Given the description of an element on the screen output the (x, y) to click on. 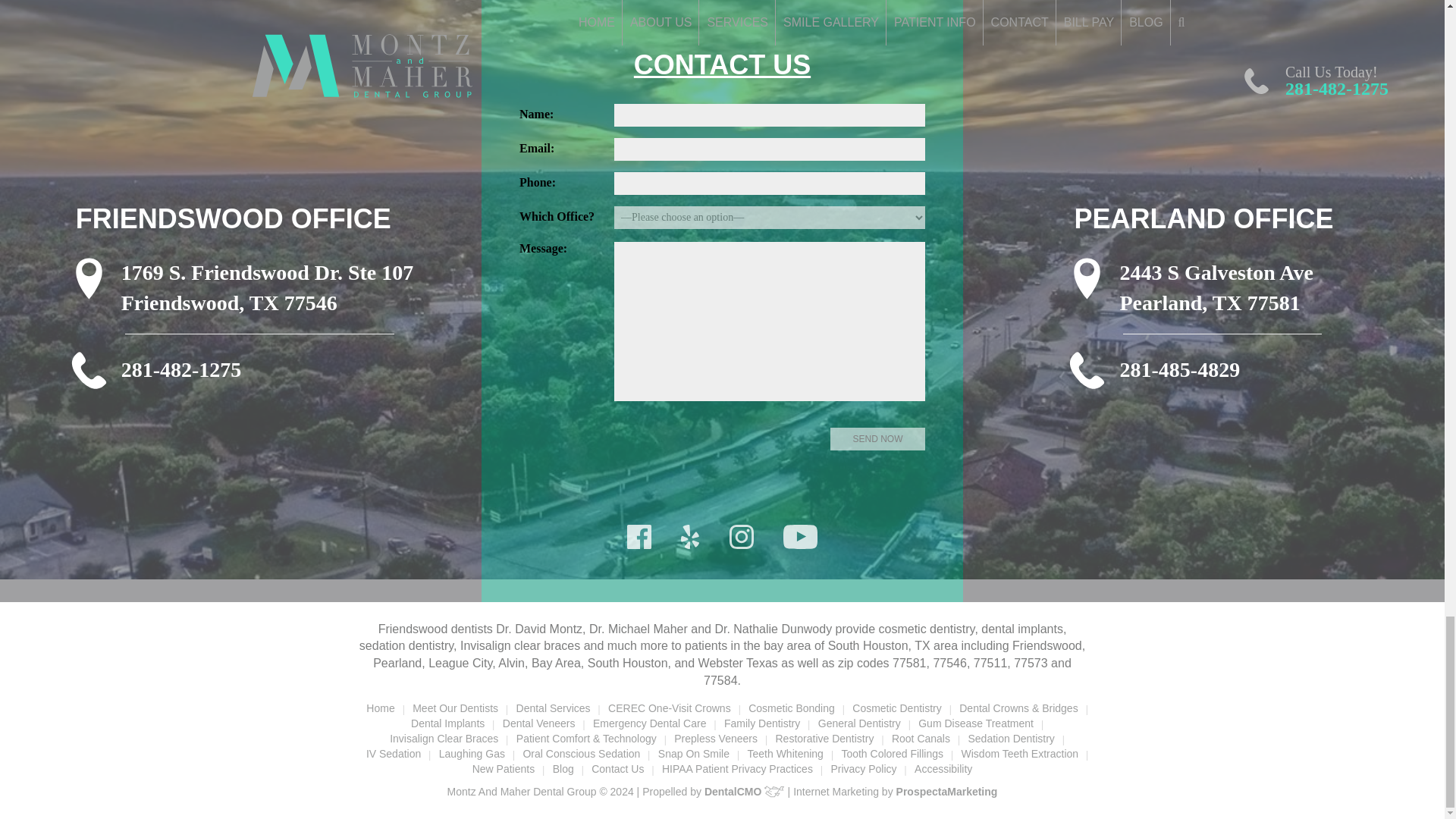
Instagram-black (741, 536)
Internet Dental Marketing (946, 791)
Send Now (876, 438)
